Given the description of an element on the screen output the (x, y) to click on. 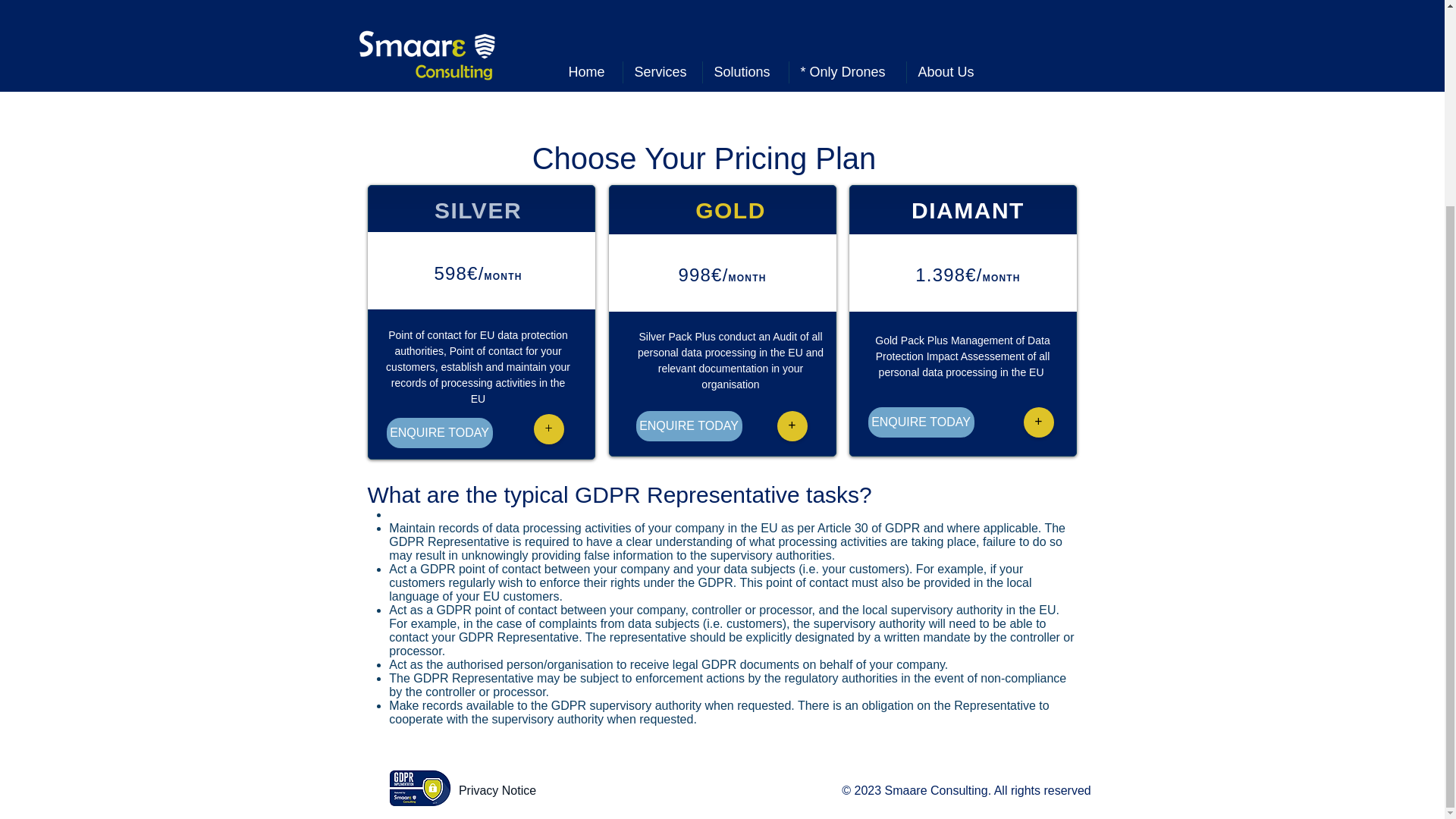
Privacy Notice (496, 789)
ENQUIRE TODAY (687, 426)
ENQUIRE TODAY (920, 422)
ENQUIRE TODAY (440, 432)
